Given the description of an element on the screen output the (x, y) to click on. 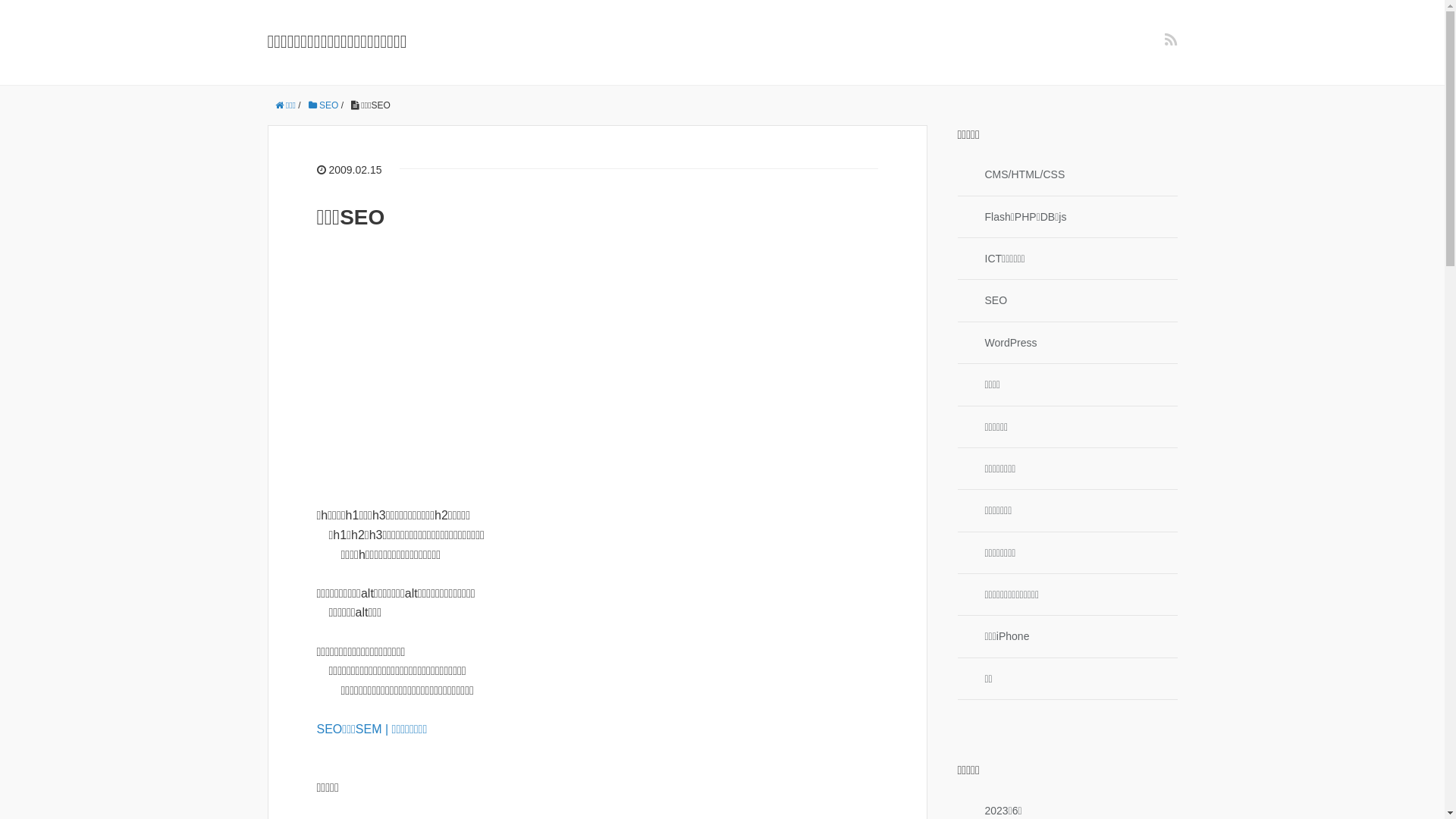
WordPress Element type: text (1066, 342)
CMS/HTML/CSS Element type: text (1066, 174)
Advertisement Element type: hover (597, 367)
SEO Element type: text (1066, 299)
SEO Element type: text (323, 105)
